Given the description of an element on the screen output the (x, y) to click on. 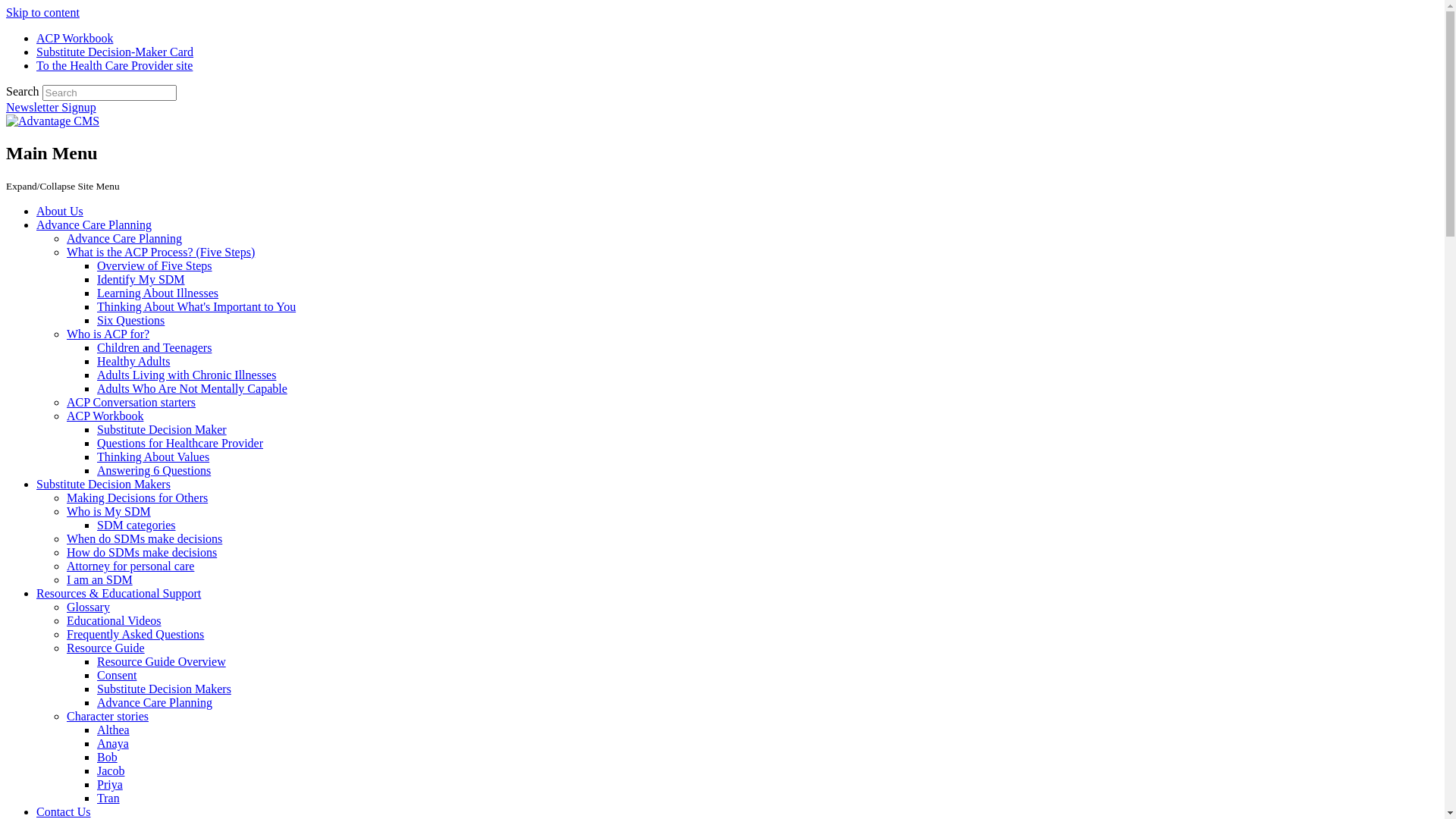
ACP Workbook Element type: text (74, 37)
Substitute Decision-Maker Card Element type: text (114, 51)
Who is ACP for? Element type: text (107, 333)
Substitute Decision Maker Element type: text (161, 429)
How do SDMs make decisions Element type: text (141, 552)
ACP Conversation starters Element type: text (130, 401)
Jacob Element type: text (110, 770)
Children and Teenagers Element type: text (154, 347)
Healthy Adults Element type: text (133, 360)
Overview of Five Steps Element type: text (154, 265)
ACP Workbook Element type: text (104, 415)
Character stories Element type: text (107, 715)
Skip to content Element type: text (42, 12)
About Us Element type: text (59, 210)
When do SDMs make decisions Element type: text (144, 538)
Making Decisions for Others Element type: text (136, 497)
Resources & Educational Support Element type: text (118, 592)
Althea Element type: text (113, 729)
Bob Element type: text (107, 756)
SDM categories Element type: text (136, 524)
Educational Videos Element type: text (113, 620)
Questions for Healthcare Provider Element type: text (180, 442)
To the Health Care Provider site Element type: text (114, 65)
Adults Who Are Not Mentally Capable Element type: text (192, 388)
Substitute Decision Makers Element type: text (103, 483)
Consent Element type: text (116, 674)
Tran Element type: text (108, 797)
Identify My SDM Element type: text (141, 279)
Priya Element type: text (109, 784)
Resource Guide Overview Element type: text (161, 661)
Newsletter Signup Element type: text (51, 106)
Attorney for personal care Element type: text (130, 565)
Glossary Element type: text (87, 606)
What is the ACP Process? (Five Steps) Element type: text (160, 251)
Adults Living with Chronic Illnesses Element type: text (186, 374)
Advance Care Planning Element type: text (93, 224)
Resource Guide Element type: text (105, 647)
Answering 6 Questions Element type: text (153, 470)
Advance Care Planning Element type: text (154, 702)
Substitute Decision Makers Element type: text (164, 688)
Contact Us Element type: text (63, 811)
Thinking About Values Element type: text (153, 456)
Six Questions Element type: text (130, 319)
I am an SDM Element type: text (99, 579)
Expand/Collapse Site Menu Element type: text (62, 184)
Advance Care Planning Element type: text (124, 238)
Learning About Illnesses Element type: text (157, 292)
Frequently Asked Questions Element type: text (134, 633)
Who is My SDM Element type: text (108, 511)
Thinking About What's Important to You Element type: text (196, 306)
Anaya Element type: text (112, 743)
